Given the description of an element on the screen output the (x, y) to click on. 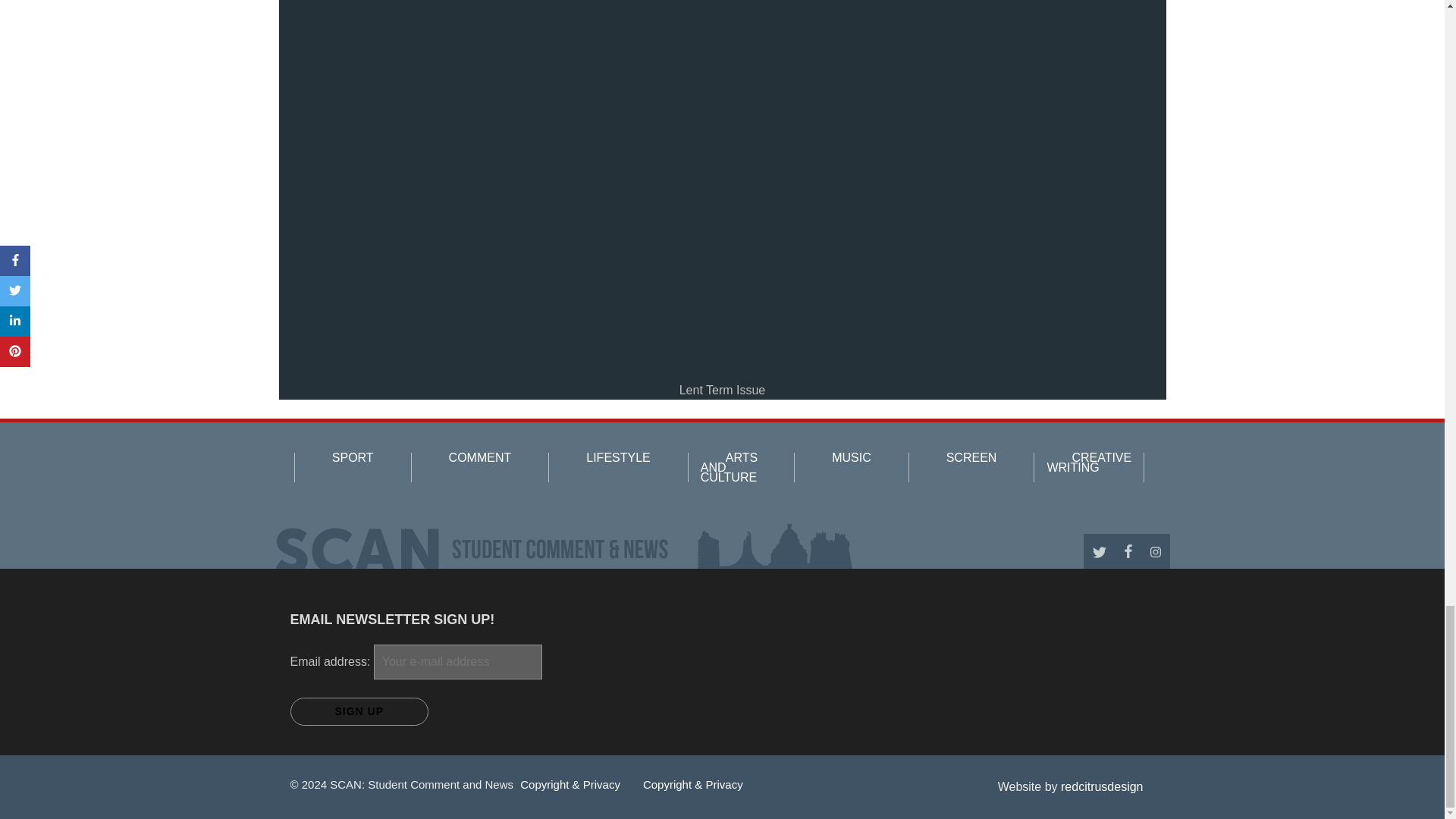
Lent Term Issue  (722, 390)
Sign up (358, 711)
